Given the description of an element on the screen output the (x, y) to click on. 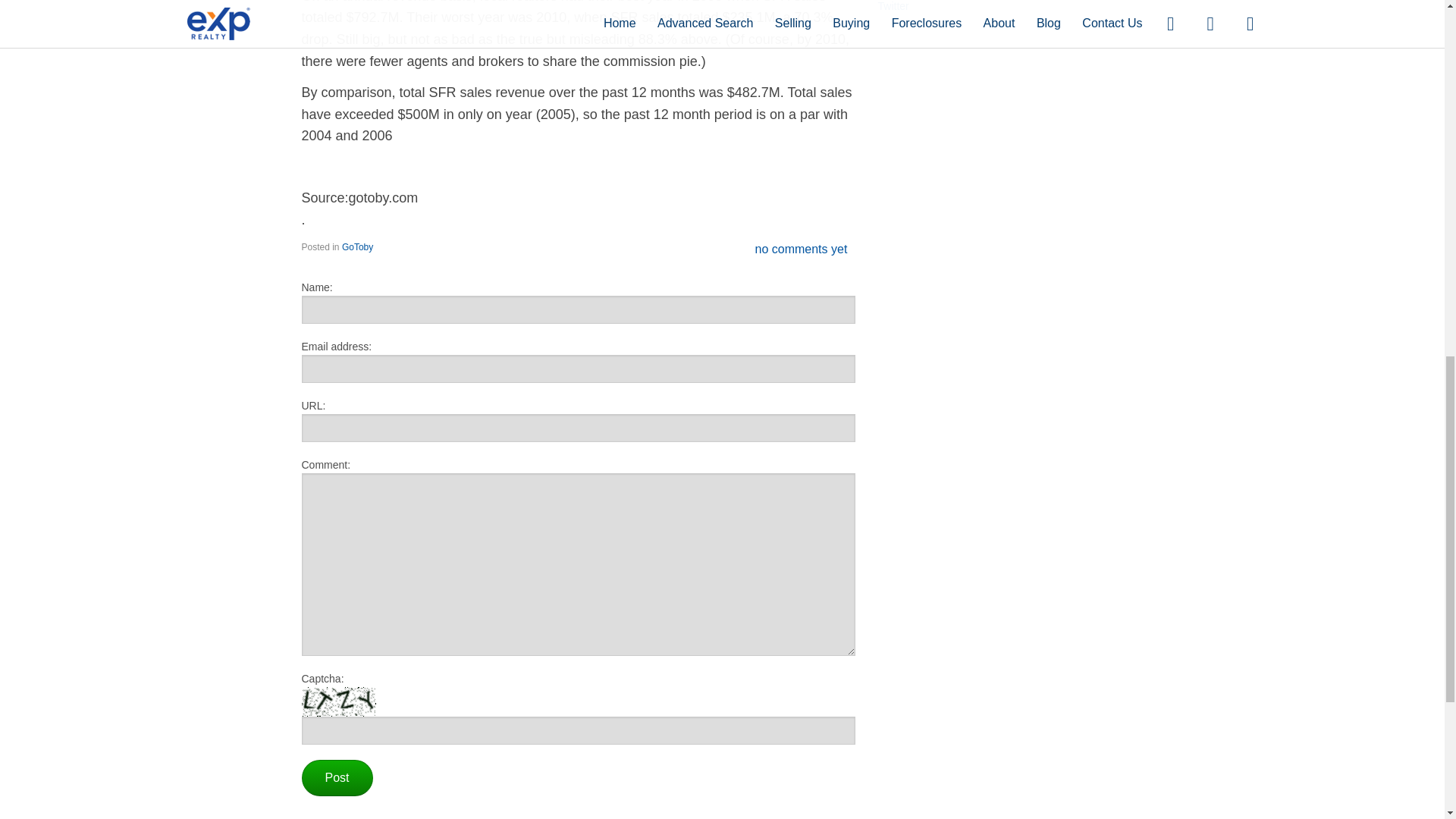
no comments yet (801, 248)
Post (336, 778)
Twitter (892, 6)
Post (336, 778)
GoToby (357, 246)
